Given the description of an element on the screen output the (x, y) to click on. 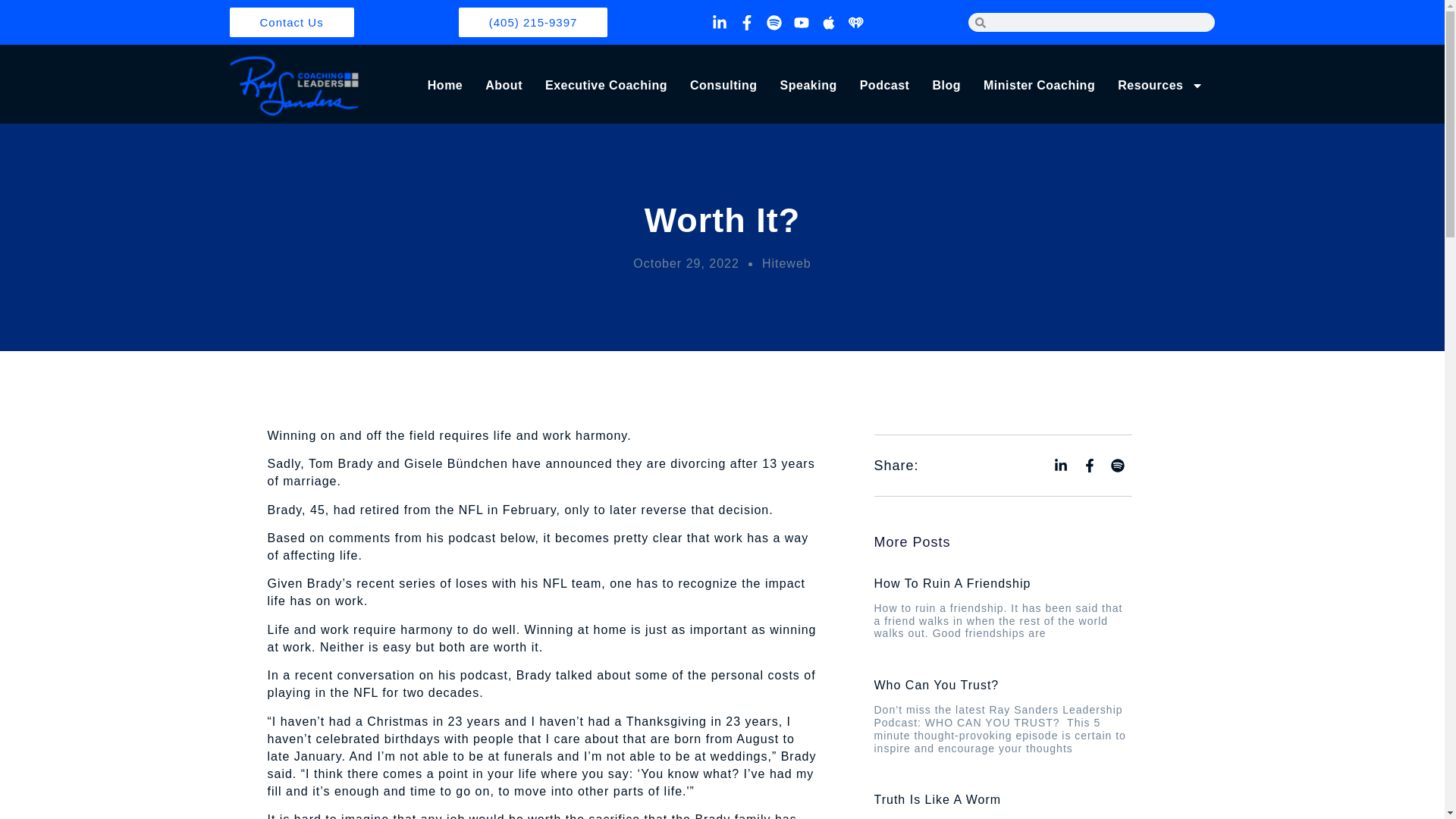
October 29, 2022 (686, 262)
Executive Coaching (606, 85)
Resources (1160, 85)
About (504, 85)
Podcast (884, 85)
Minister Coaching (1039, 85)
Who Can You Trust? (935, 684)
How To Ruin A Friendship (951, 583)
Speaking (808, 85)
Contact Us (290, 21)
Consulting (723, 85)
Hiteweb (785, 262)
Blog (946, 85)
Home (445, 85)
Truth Is Like A Worm (937, 799)
